Given the description of an element on the screen output the (x, y) to click on. 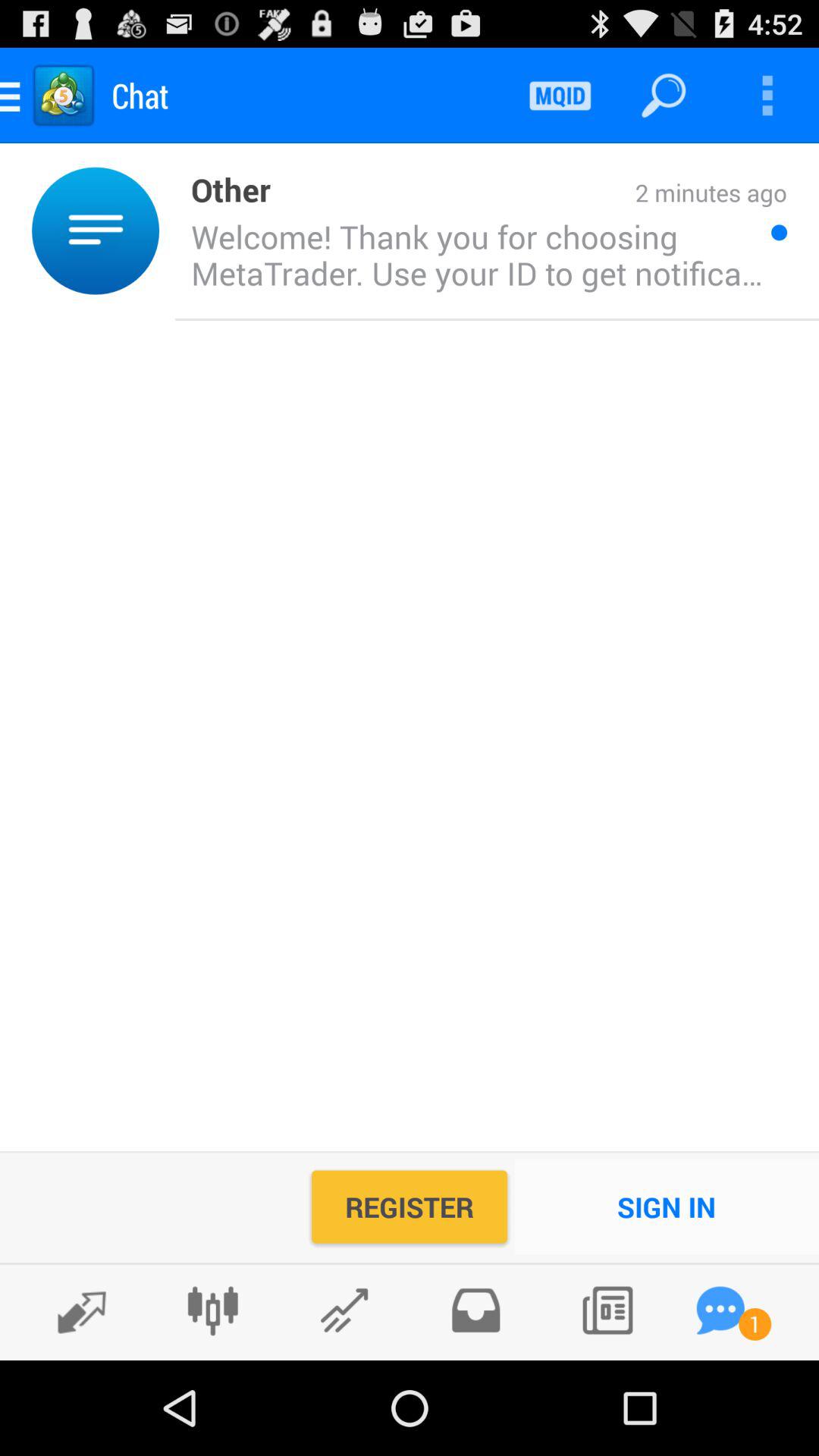
view messages (720, 1310)
